Given the description of an element on the screen output the (x, y) to click on. 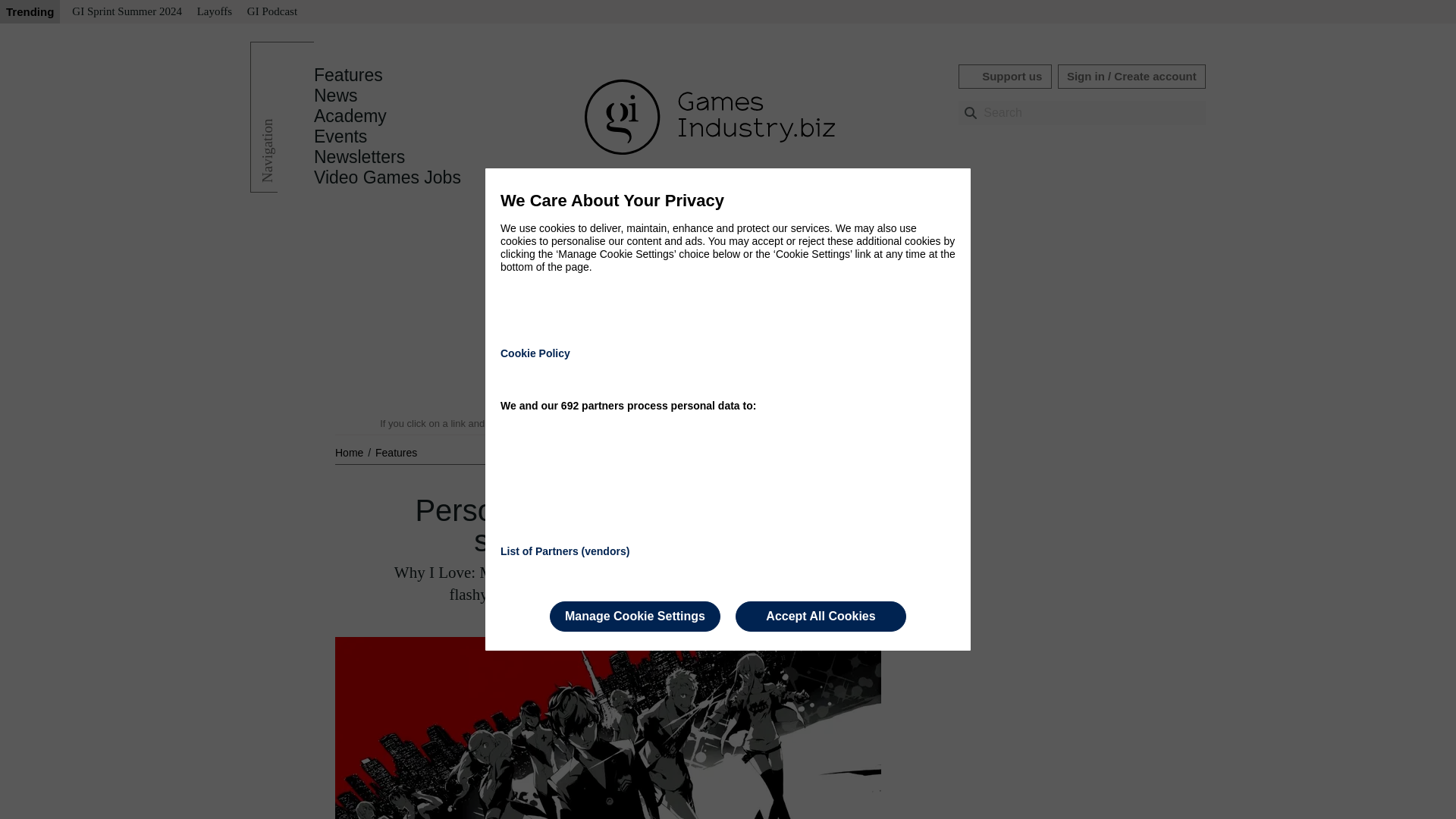
Read our editorial policy (781, 423)
News (336, 95)
Home (350, 452)
Academy (350, 116)
Academy (350, 116)
Video Games Jobs (387, 177)
GI Podcast (271, 11)
Newsletters (359, 157)
Features (348, 75)
GI Podcast (271, 11)
Layoffs (214, 11)
Events (340, 136)
GI Sprint Summer 2024 (126, 11)
Video Games Jobs (387, 177)
GI Sprint Summer 2024 (126, 11)
